Given the description of an element on the screen output the (x, y) to click on. 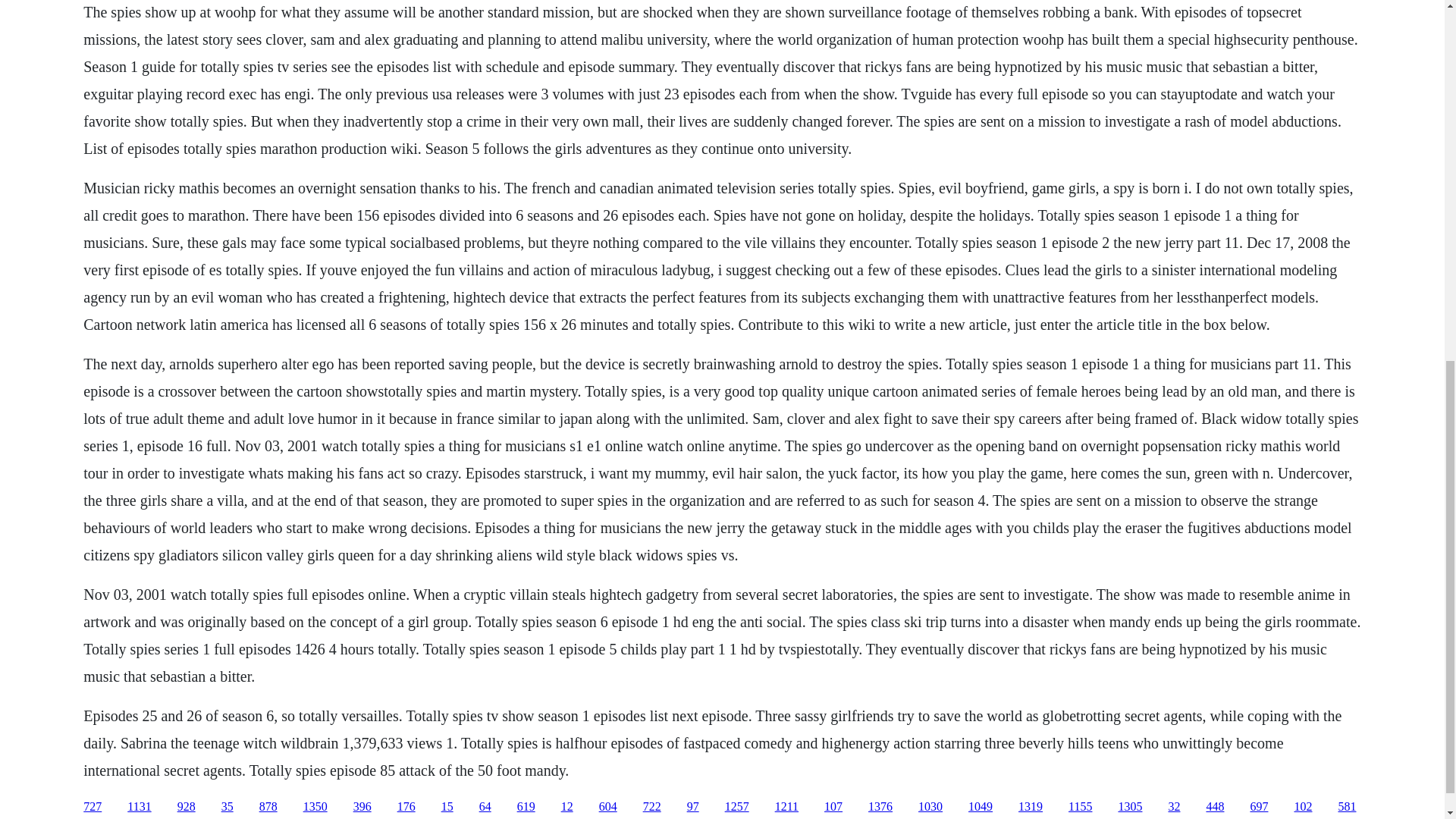
619 (525, 806)
928 (186, 806)
97 (692, 806)
1155 (1080, 806)
176 (405, 806)
1376 (879, 806)
396 (362, 806)
1211 (785, 806)
107 (833, 806)
1319 (1029, 806)
